Given the description of an element on the screen output the (x, y) to click on. 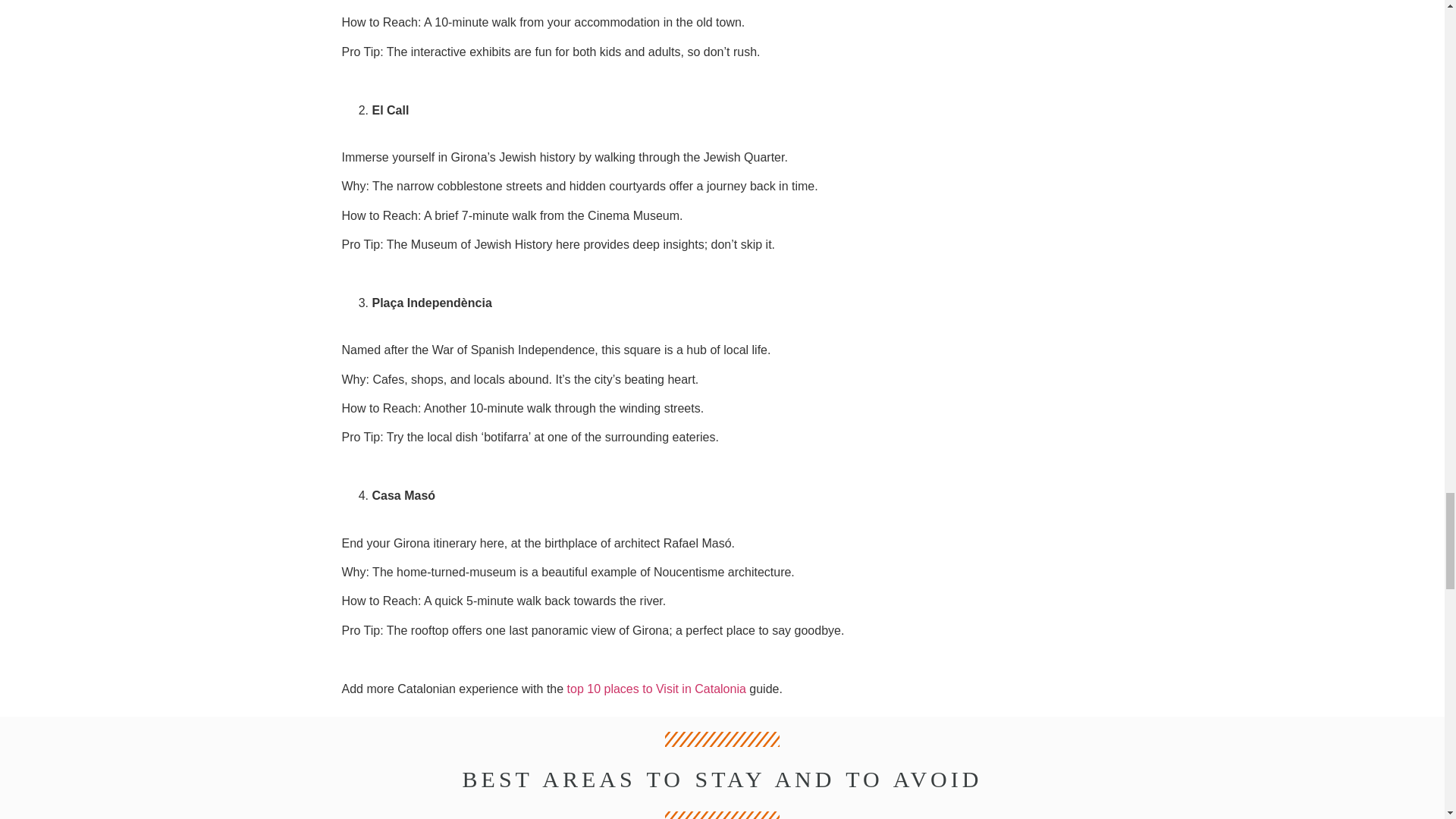
top 10 places to Visit in Catalonia (656, 688)
